Given the description of an element on the screen output the (x, y) to click on. 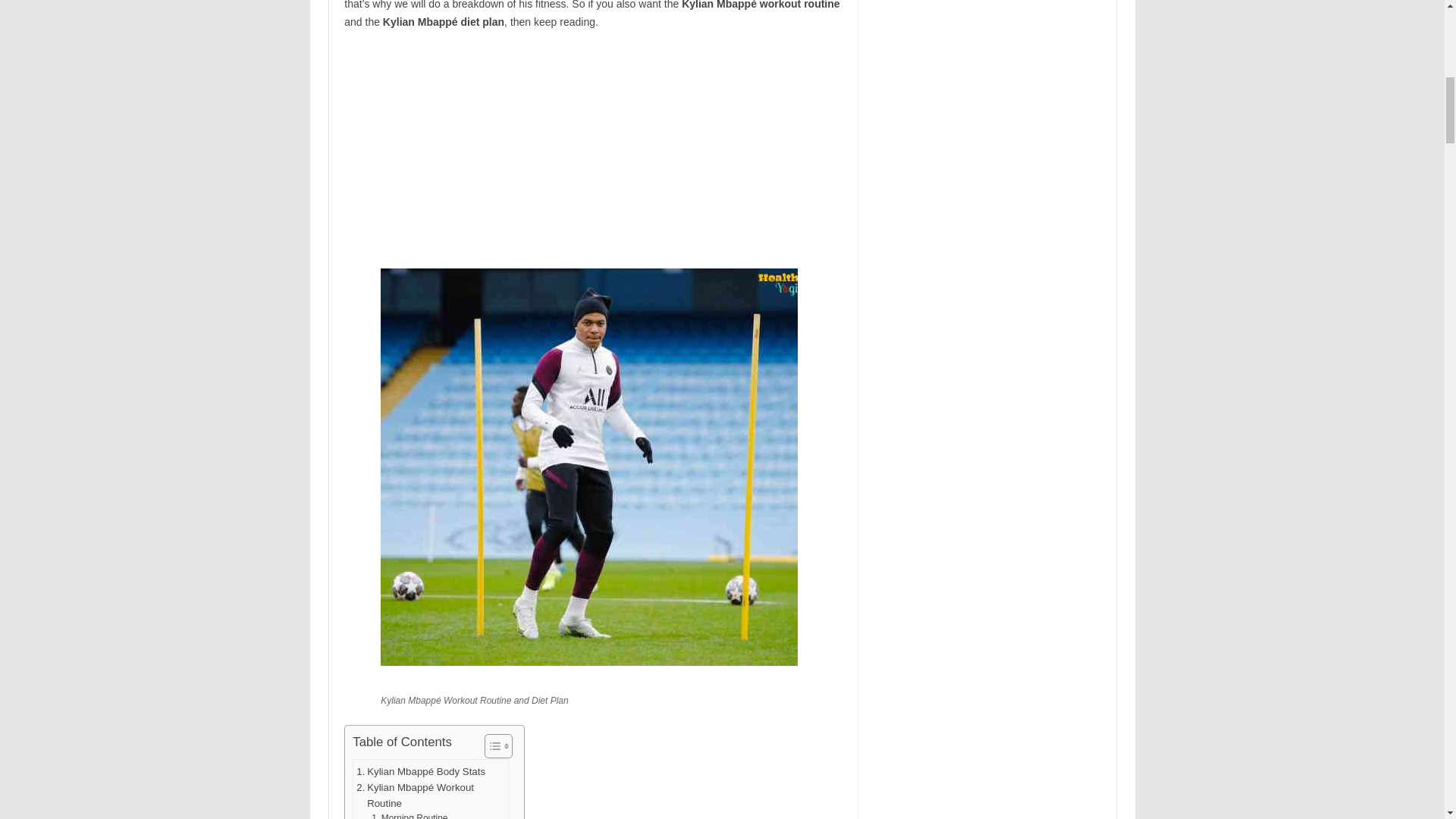
Morning Routine (408, 815)
Morning Routine (408, 815)
